Given the description of an element on the screen output the (x, y) to click on. 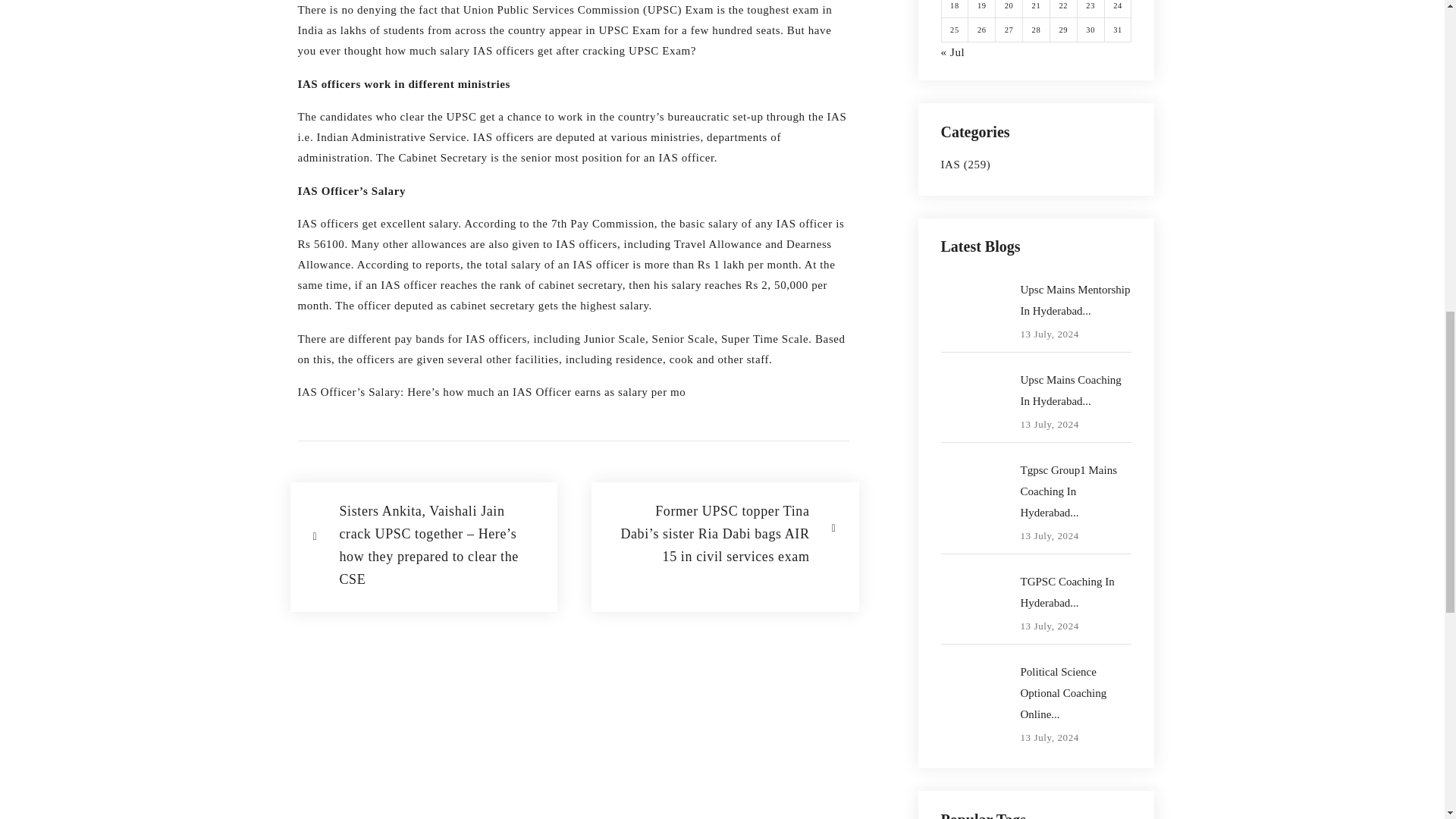
Political Science Optional Coaching Online... (1076, 692)
IAS (949, 164)
 IAS officer (598, 264)
Upsc Mains Mentorship In Hyderabad... (1076, 300)
Upsc Mains Coaching In Hyderabad... (1076, 390)
TGPSC Coaching In Hyderabad... (1076, 591)
Tgpsc Group1 Mains Coaching In Hyderabad... (1076, 491)
